Given the description of an element on the screen output the (x, y) to click on. 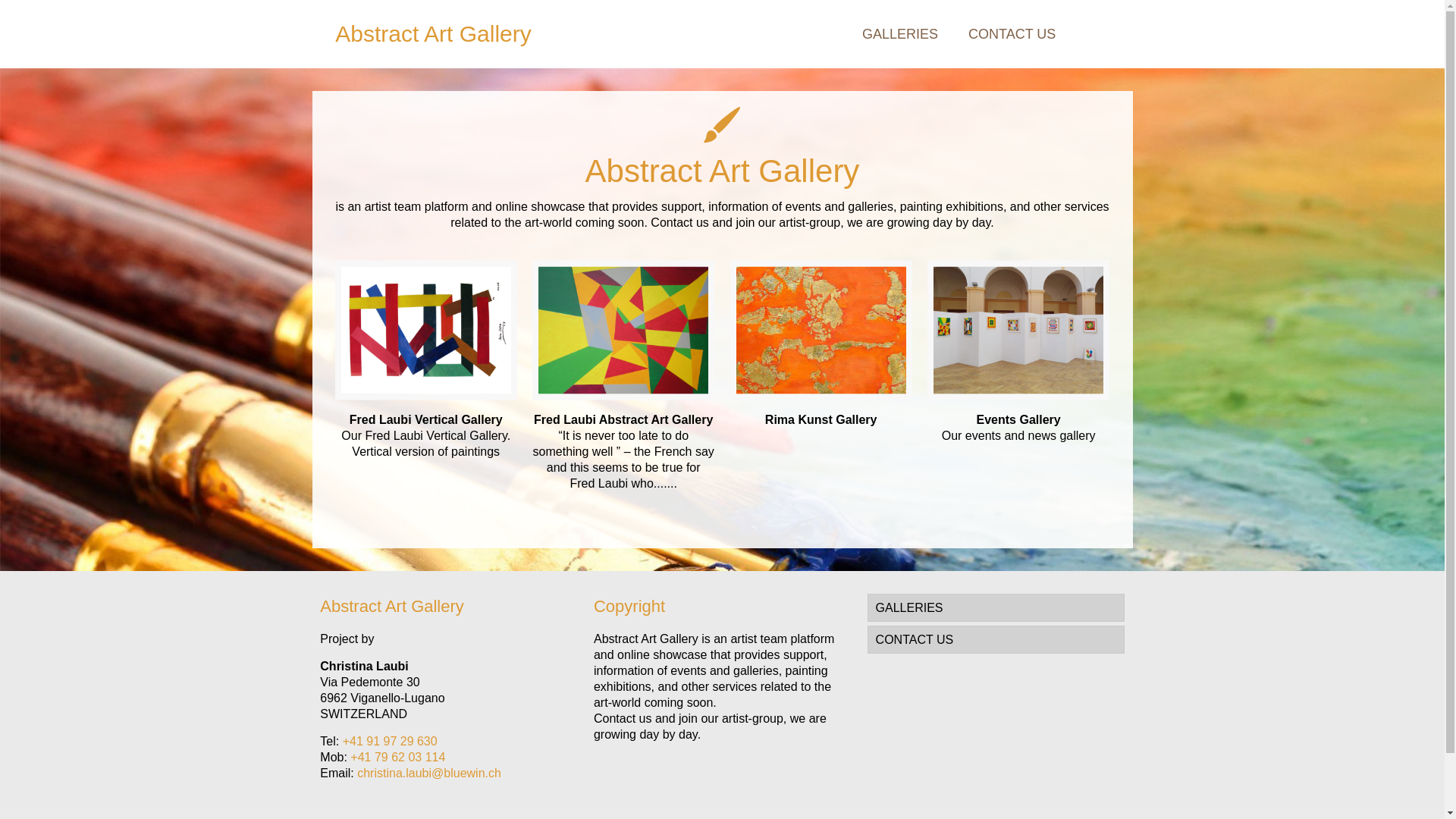
GALLERIES Element type: text (900, 34)
+41 91 97 29 630 Element type: text (389, 740)
GALLERIES Element type: text (995, 607)
CONTACT US Element type: text (1011, 34)
Abstract Art Gallery Element type: text (432, 34)
CONTACT US Element type: text (995, 639)
christina.laubi@bluewin.ch Element type: text (429, 772)
+41 79 62 03 114 Element type: text (397, 756)
